Given the description of an element on the screen output the (x, y) to click on. 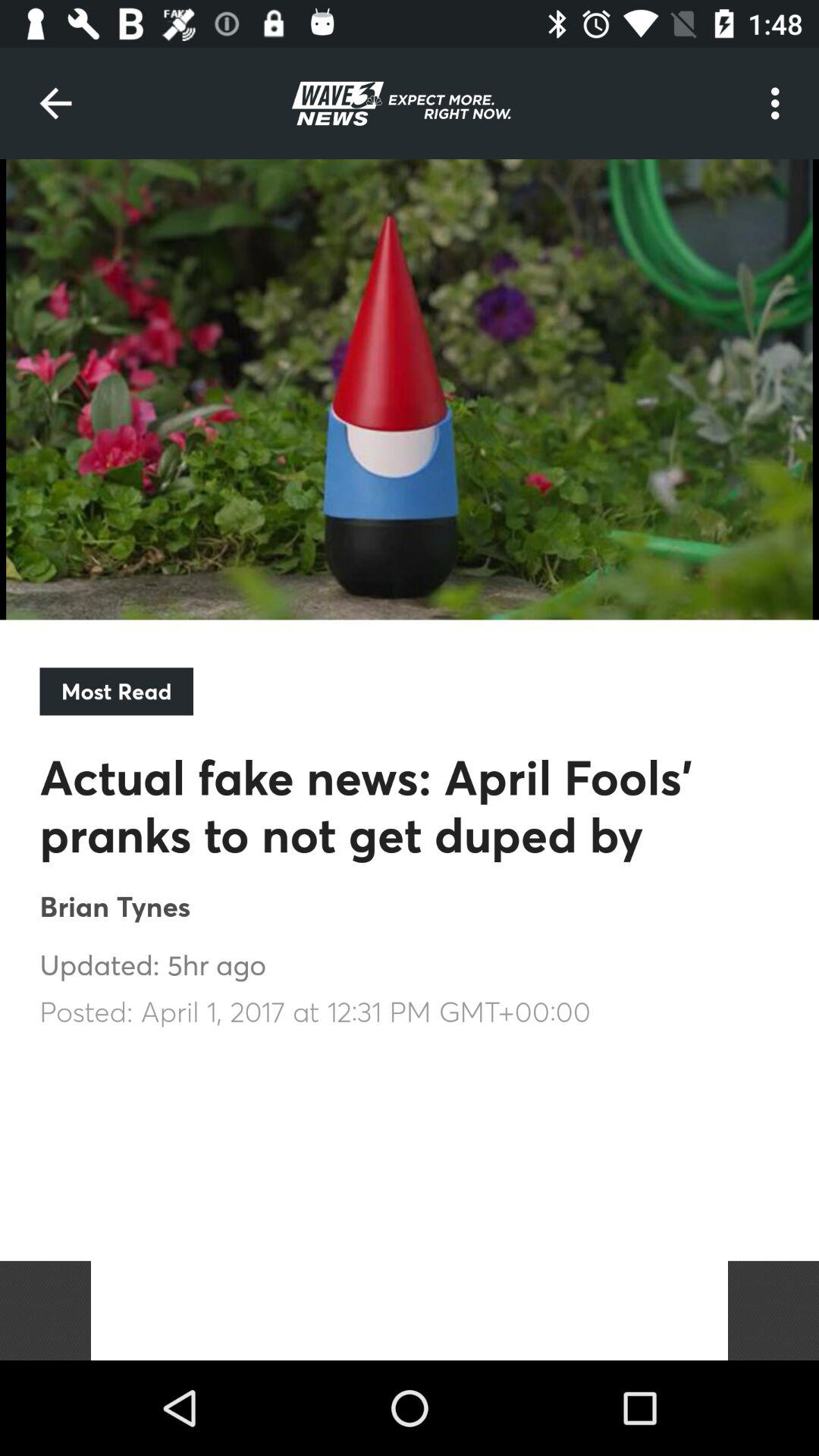
choose the most read item (116, 691)
